Given the description of an element on the screen output the (x, y) to click on. 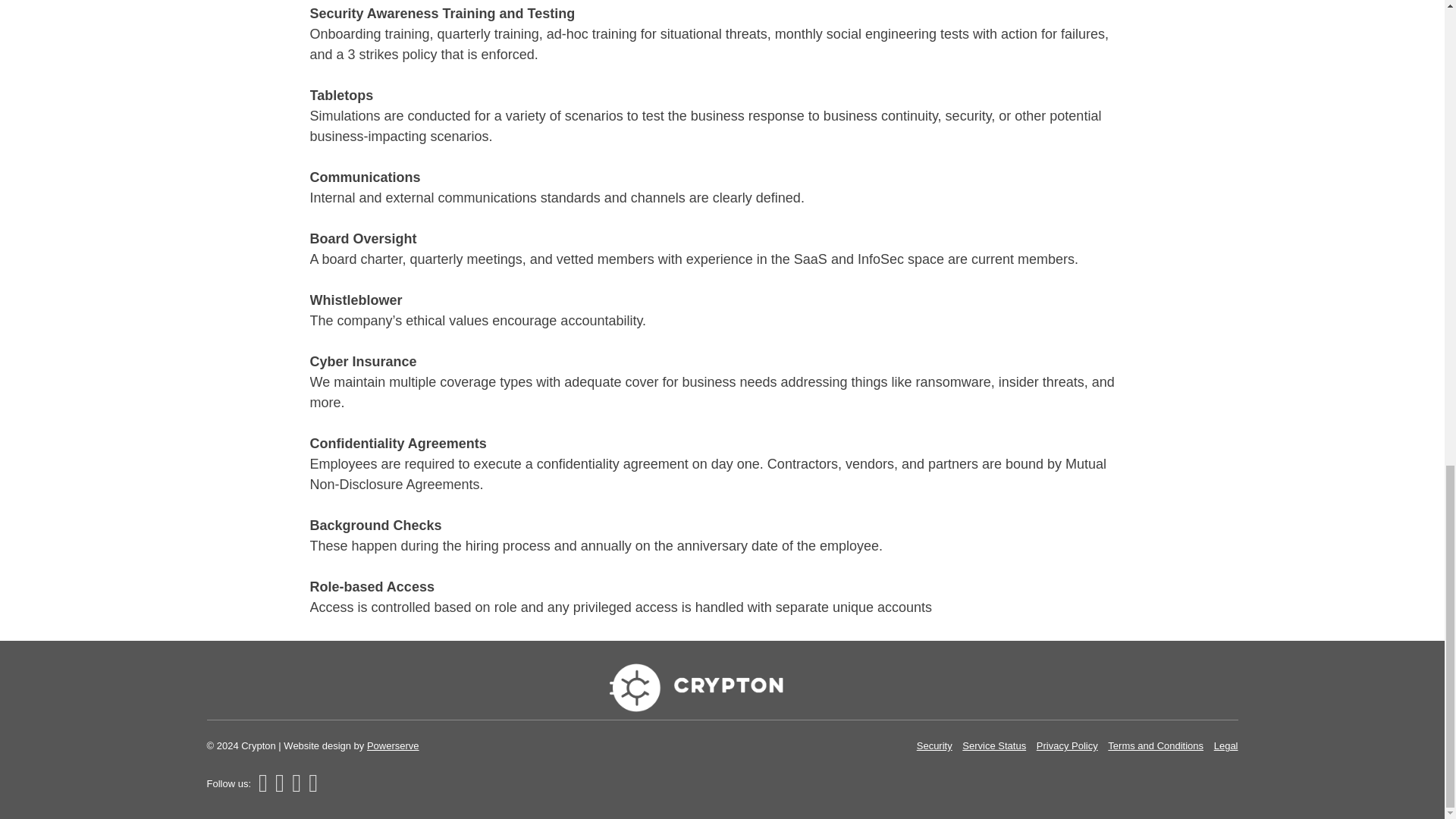
Legal (1226, 745)
Terms and Conditions (1156, 745)
Privacy Policy (1066, 745)
Service Status (994, 745)
Powerserve (392, 745)
Security (934, 745)
